Given the description of an element on the screen output the (x, y) to click on. 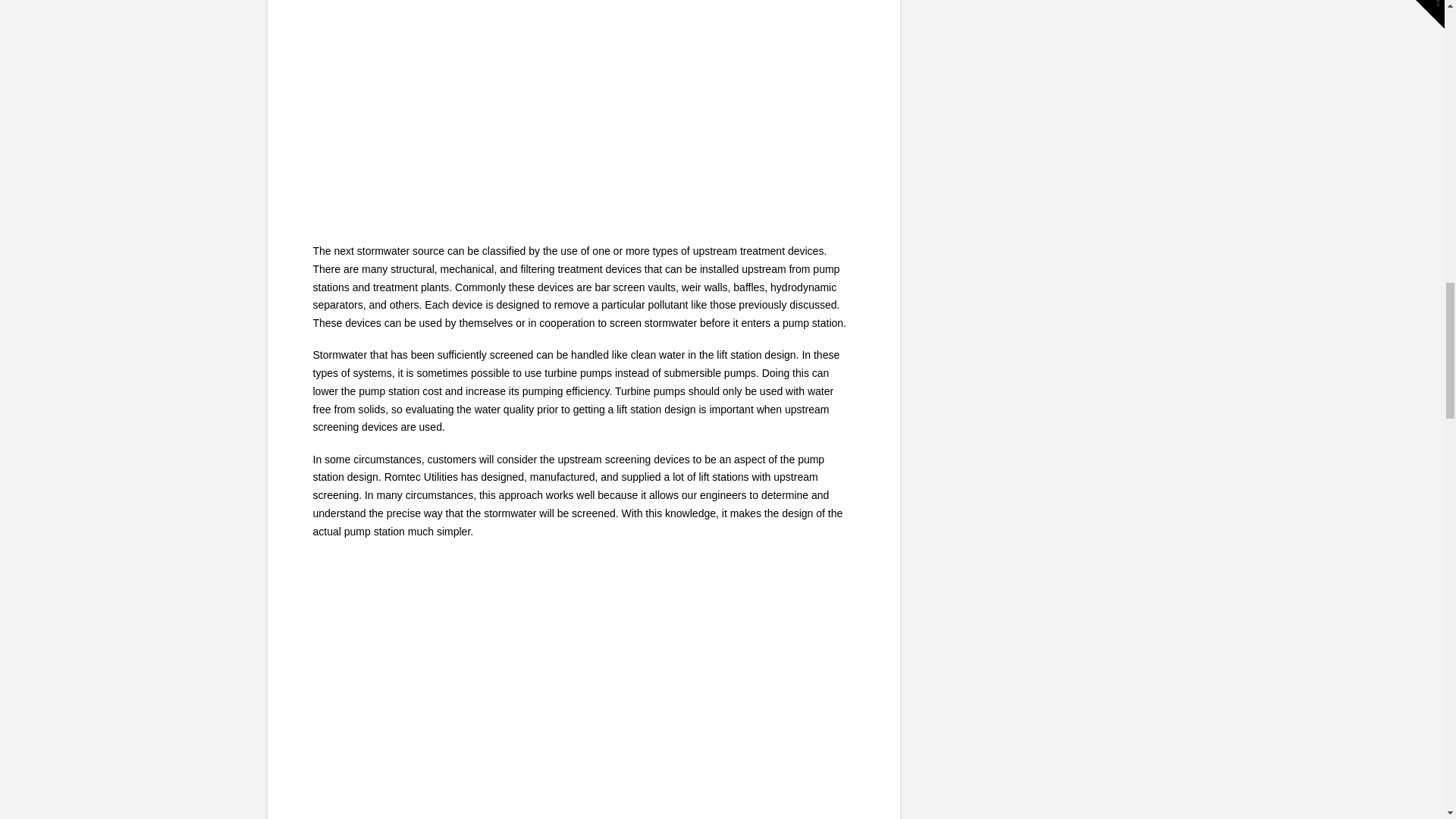
stormwater-wetland-with-pump-station (583, 108)
